Given the description of an element on the screen output the (x, y) to click on. 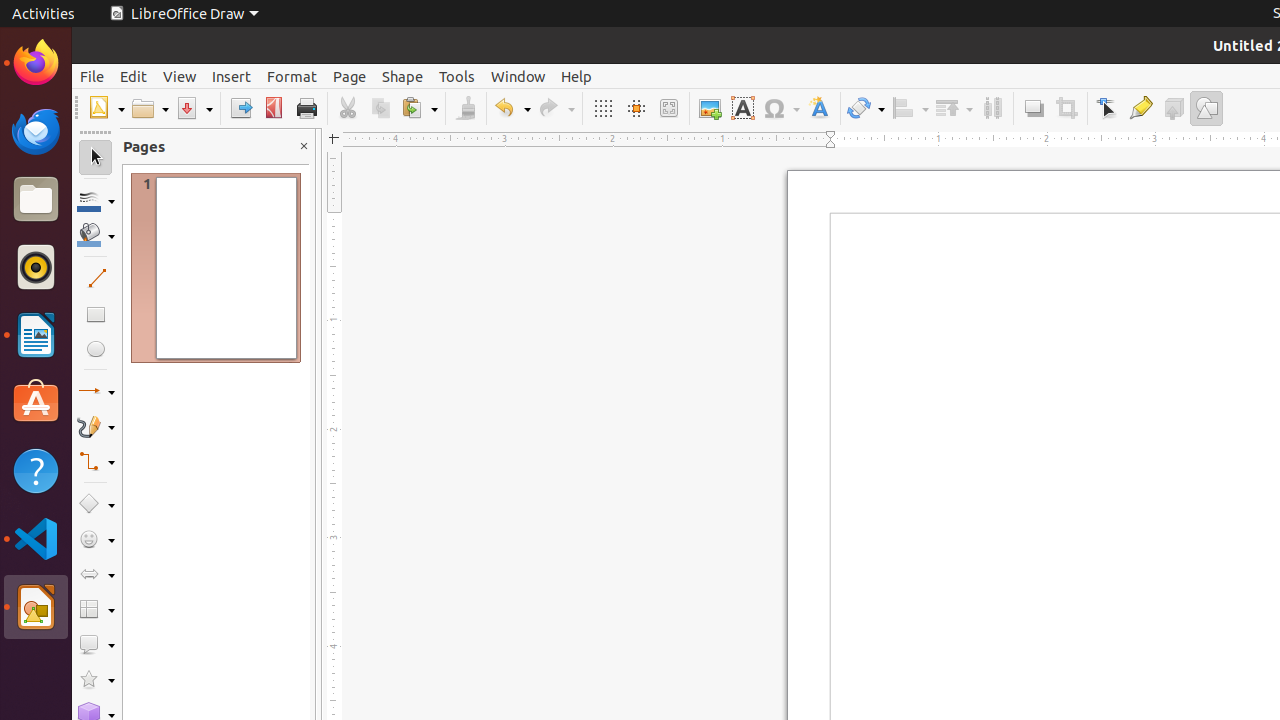
Grid Element type: toggle-button (602, 108)
Helplines While Moving Element type: toggle-button (635, 108)
Close Pane Element type: push-button (303, 146)
Cut Element type: push-button (347, 108)
New Element type: push-button (106, 108)
